Given the description of an element on the screen output the (x, y) to click on. 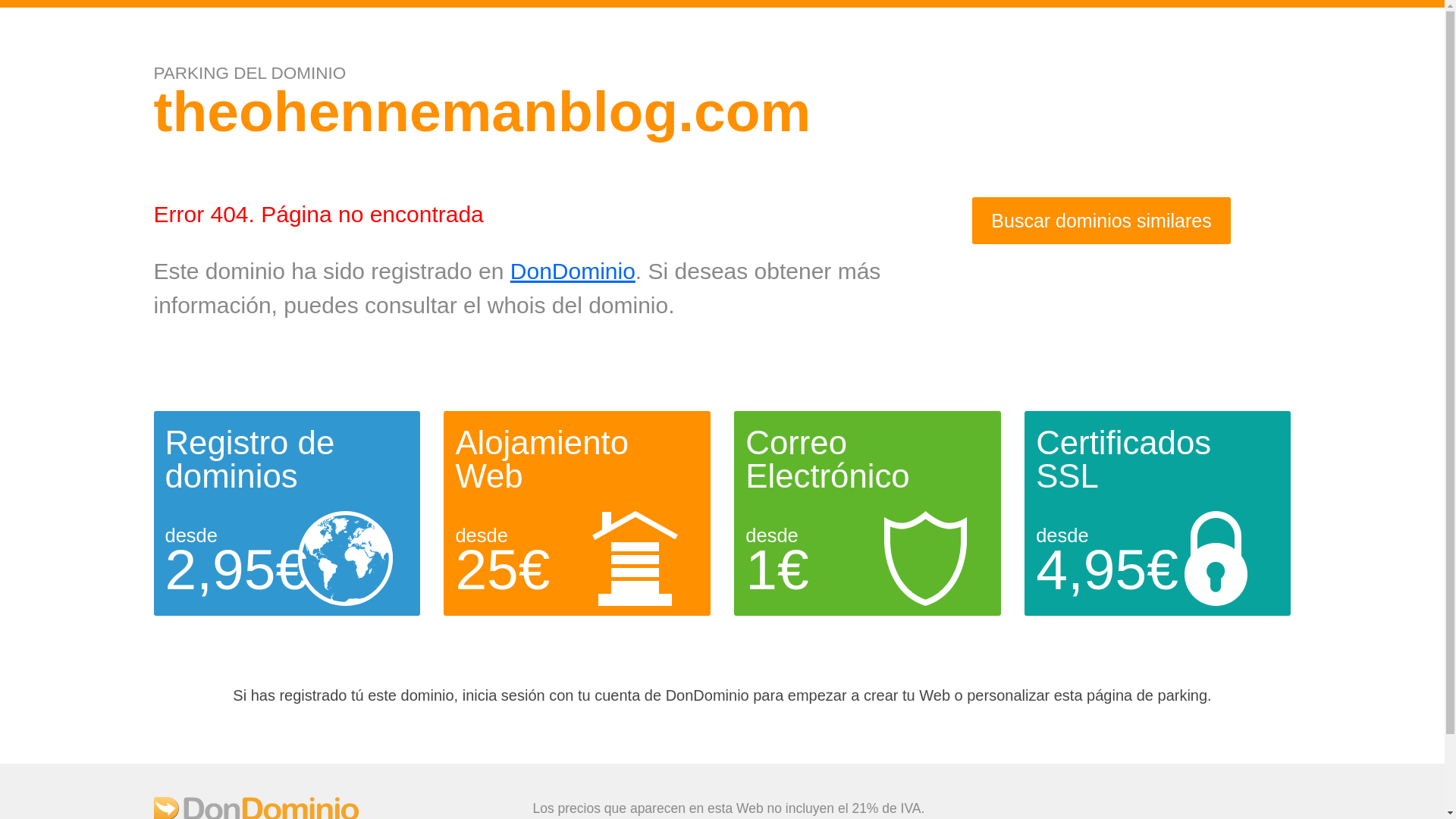
Registro de dominios (249, 459)
Hosting (541, 459)
Certificados SSL (1123, 459)
DonDominio (572, 270)
Buscar dominios similares (1101, 220)
Alojamiento Web (541, 459)
DonDominio (572, 270)
Certificados SSL (1123, 459)
Registro de dominios (249, 459)
DonDominio.com (255, 813)
